Given the description of an element on the screen output the (x, y) to click on. 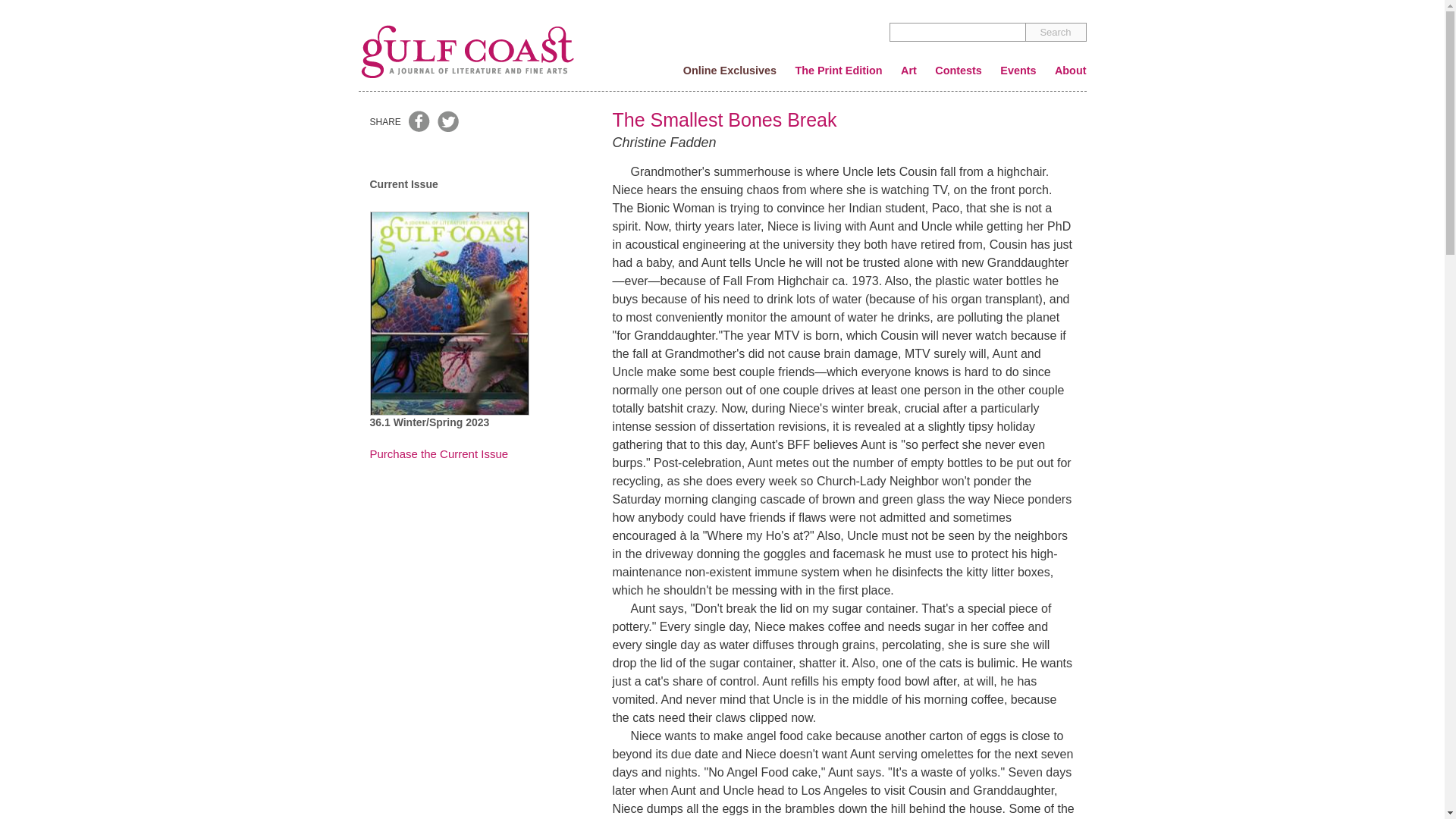
Search (1055, 31)
Search (1055, 31)
